Given the description of an element on the screen output the (x, y) to click on. 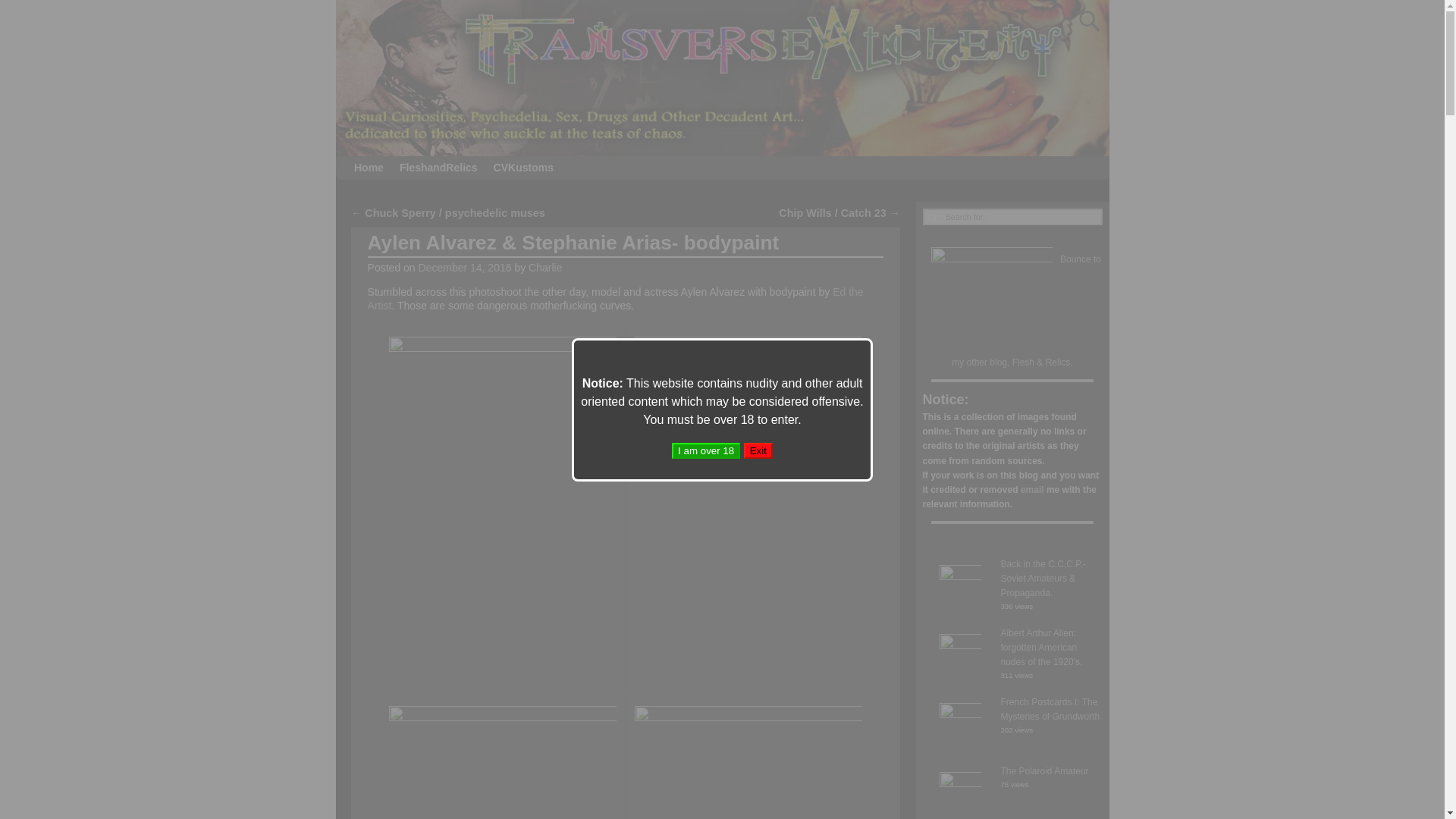
Charlie (545, 267)
View all posts by Charlie (545, 267)
I am over 18 (705, 450)
December 14, 2016 (465, 267)
Home (368, 167)
Exit (758, 450)
1:33 pm (465, 267)
Ed the Artist (615, 298)
FleshandRelics (437, 167)
CVKustoms (522, 167)
